Given the description of an element on the screen output the (x, y) to click on. 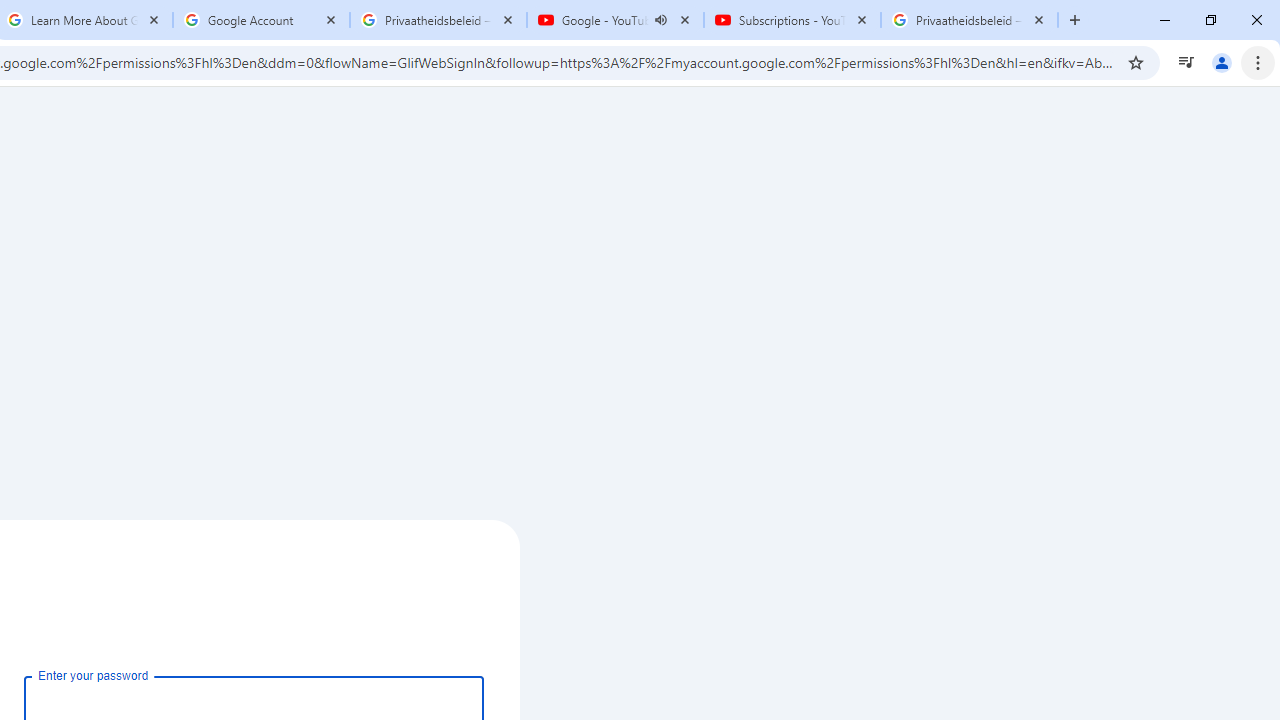
Google Account (260, 20)
Google - YouTube - Audio playing (615, 20)
Subscriptions - YouTube (792, 20)
